Given the description of an element on the screen output the (x, y) to click on. 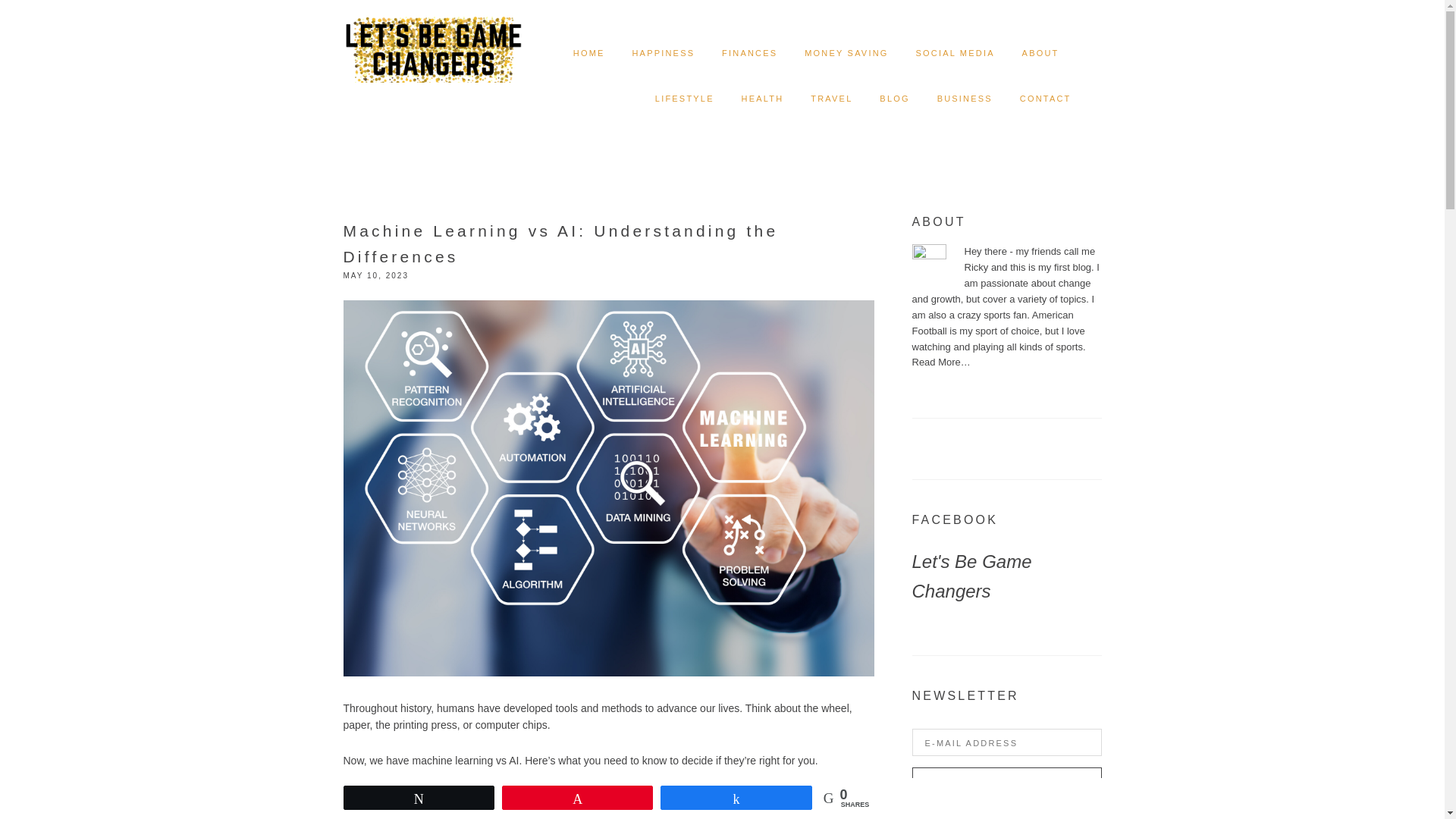
FINANCES (749, 53)
LET'S BE GAME CHANGERS (432, 37)
TRAVEL (830, 98)
Go (1005, 783)
HAPPINESS (662, 53)
HEALTH (762, 98)
Go (1005, 783)
BUSINESS (964, 98)
Let's Be Game Changers (970, 576)
LIFESTYLE (684, 98)
